Given the description of an element on the screen output the (x, y) to click on. 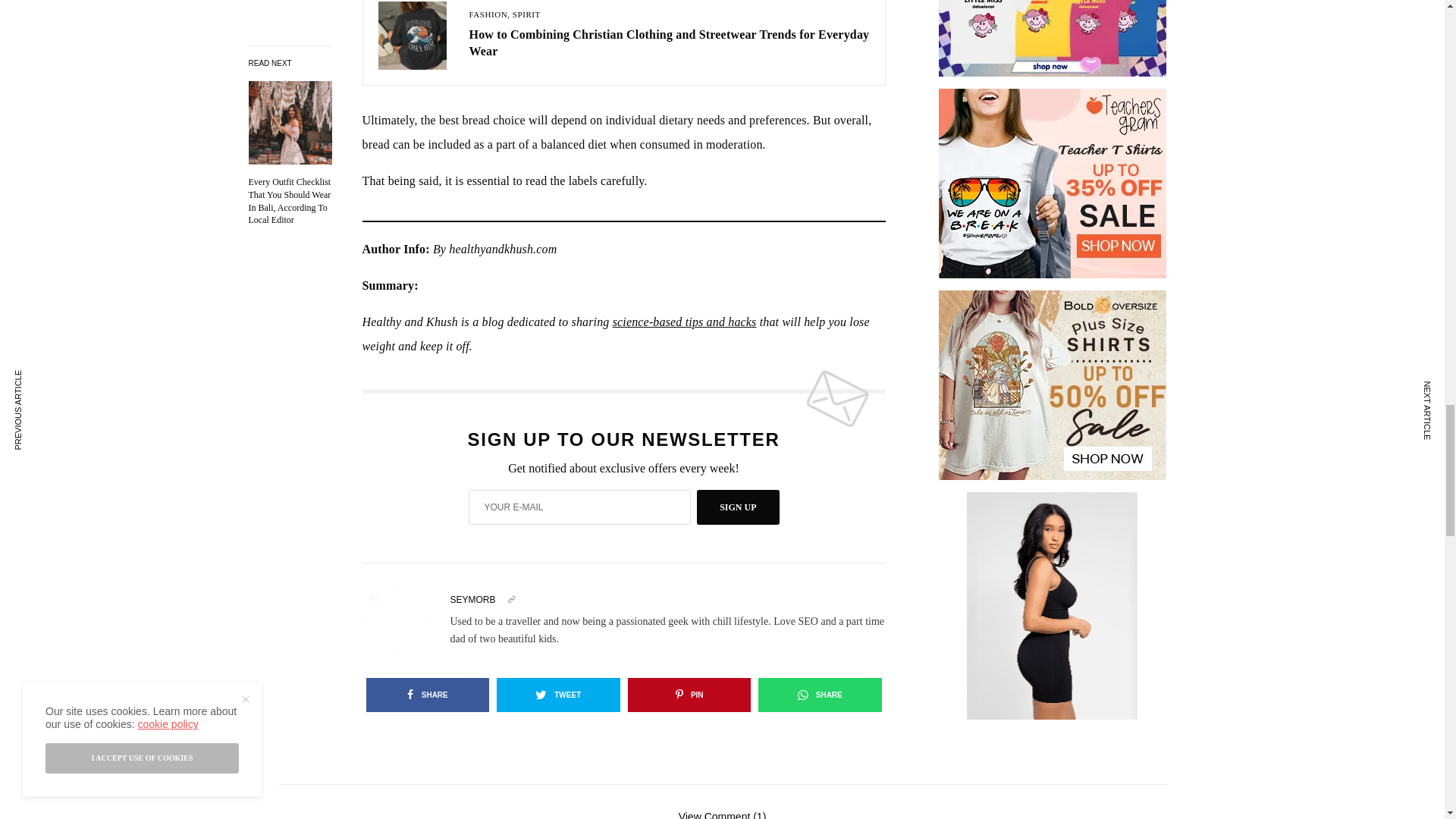
Waistdear (1052, 207)
oversized shirt (1052, 40)
